Given the description of an element on the screen output the (x, y) to click on. 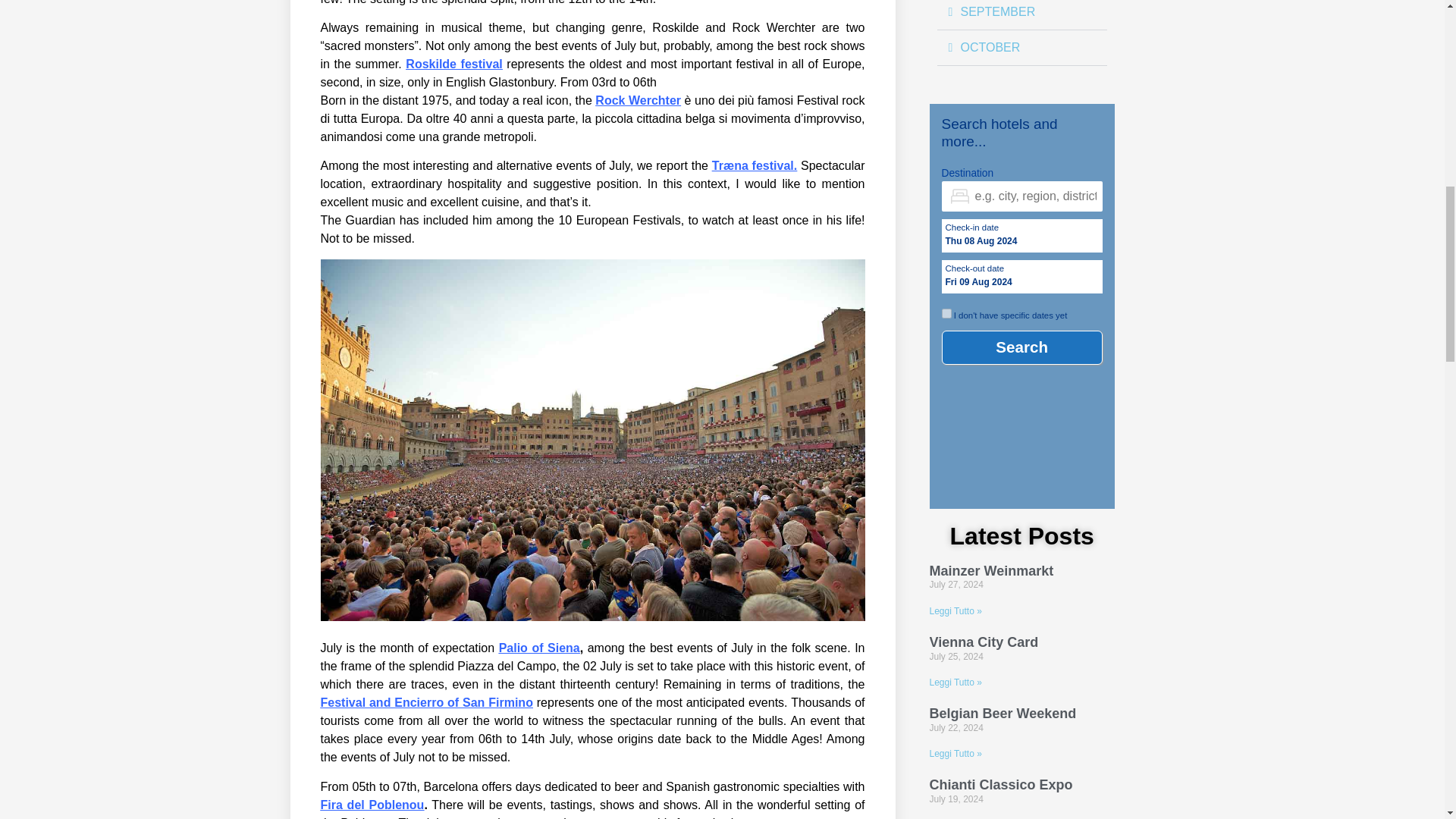
Search (1022, 347)
on (947, 313)
e.g. city, region, district or specific hotel (1022, 195)
